Given the description of an element on the screen output the (x, y) to click on. 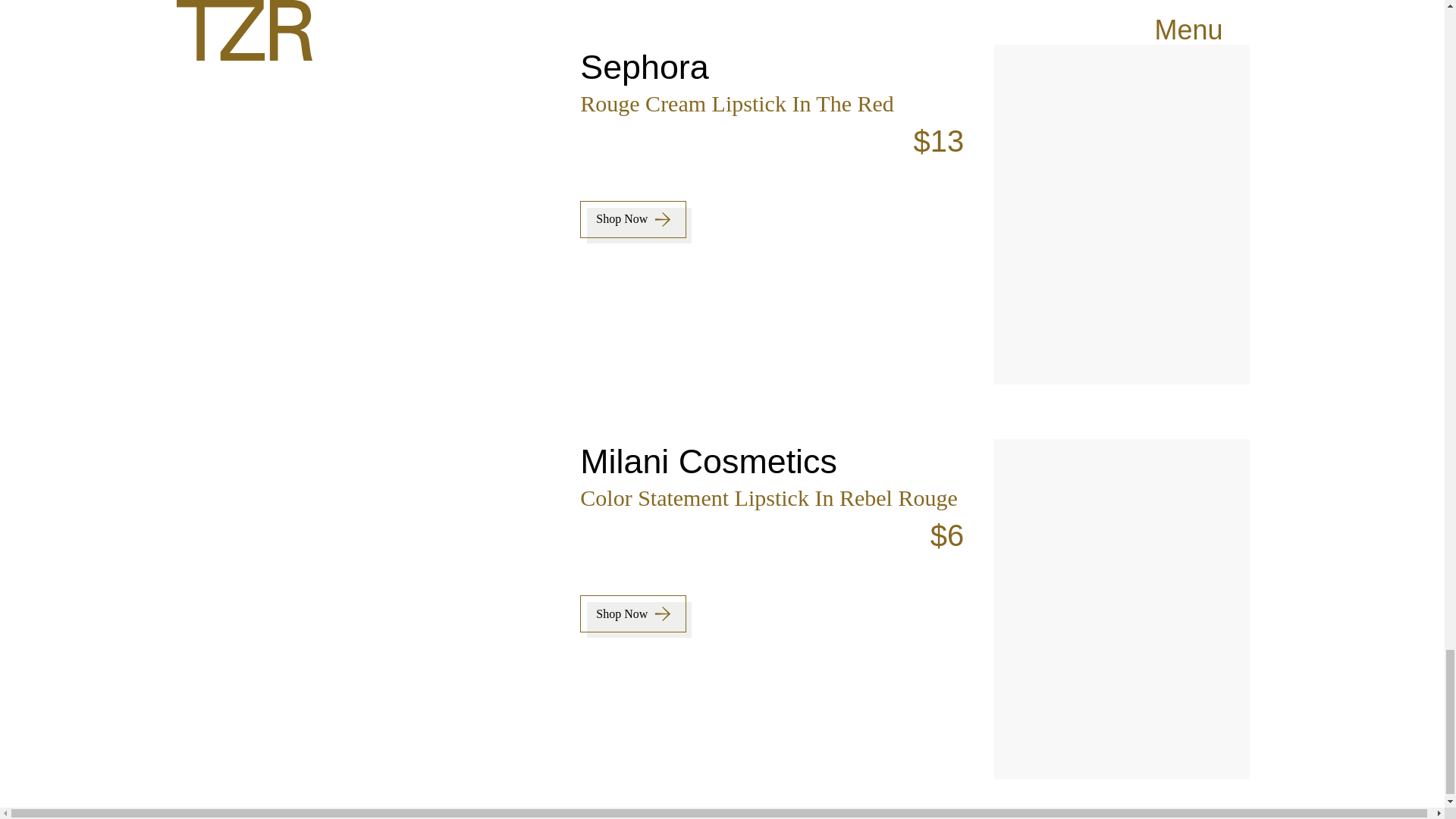
Shop Now (632, 613)
Shop Now (632, 219)
